Given the description of an element on the screen output the (x, y) to click on. 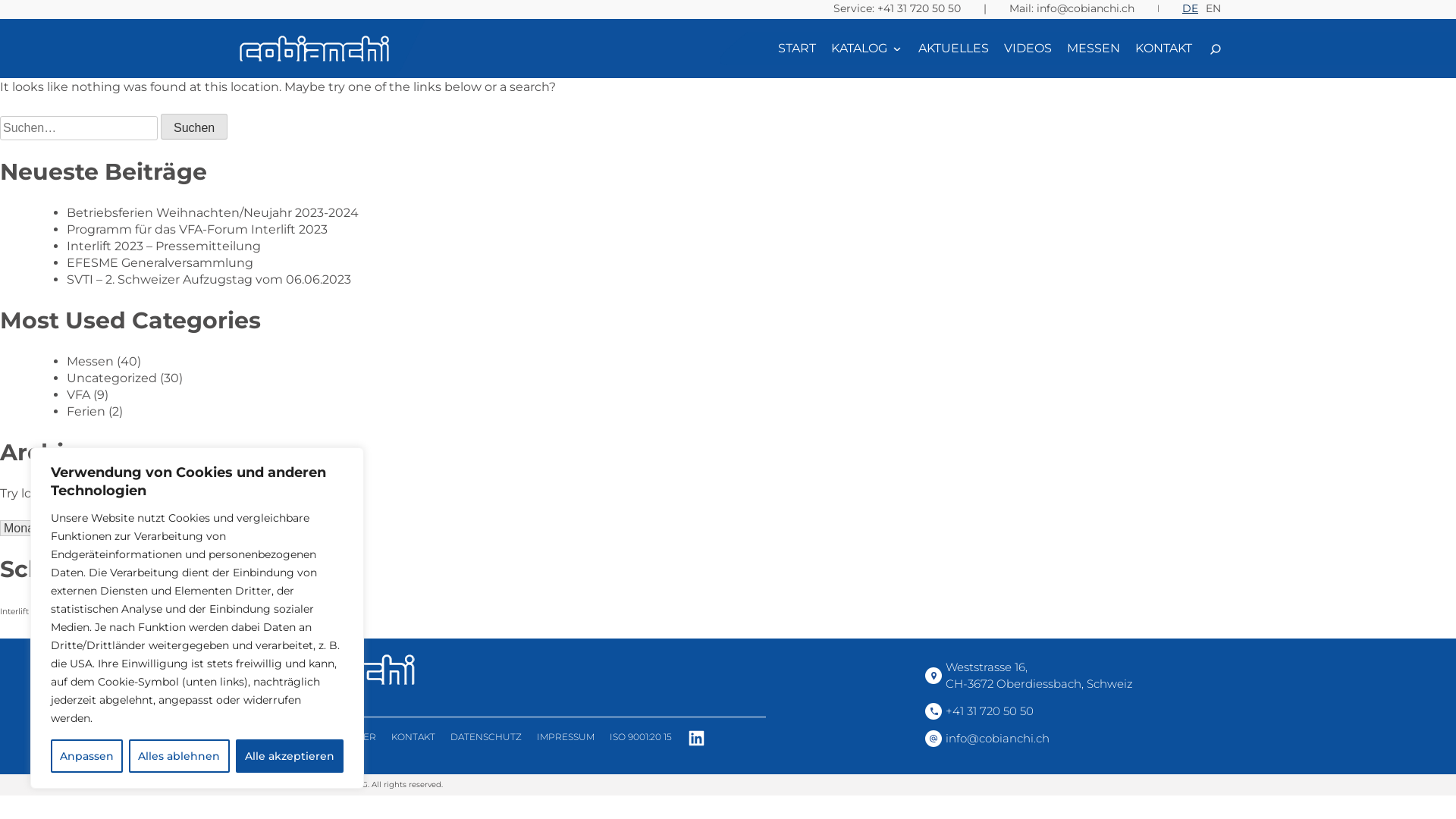
KONTAKT Element type: text (413, 736)
START Element type: text (249, 736)
IMPRESSUM Element type: text (565, 736)
AKTUELLES Element type: text (953, 47)
+41 31 720 50 50 Element type: text (1072, 710)
Betriebsferien Weihnachten/Neujahr 2023-2024 Element type: text (212, 212)
ISO 9001:20 15 Element type: text (640, 736)
LINKEDIN Element type: text (696, 737)
VFA Element type: text (78, 394)
START Element type: text (796, 47)
KONTAKT Element type: text (1163, 47)
Alles ablehnen Element type: text (178, 755)
info@cobianchi.ch Element type: text (1085, 8)
Anpassen Element type: text (86, 755)
Uncategorized Element type: text (111, 377)
VERTRIEBSPARTNER Element type: text (327, 736)
+41 31 720 50 50 Element type: text (918, 8)
DE Element type: text (1190, 8)
EN Element type: text (1212, 8)
VIDEOS Element type: text (1027, 47)
info@cobianchi.ch Element type: text (1072, 738)
VFA Element type: text (39, 611)
KATALOG Element type: text (867, 47)
Suchen Element type: text (193, 126)
Alle akzeptieren Element type: text (289, 755)
Messen Element type: text (89, 361)
Ferien Element type: text (85, 411)
MESSEN Element type: text (1093, 47)
DATENSCHUTZ Element type: text (485, 736)
Interlift Element type: text (14, 611)
EFESME Generalversammlung Element type: text (159, 262)
